Given the description of an element on the screen output the (x, y) to click on. 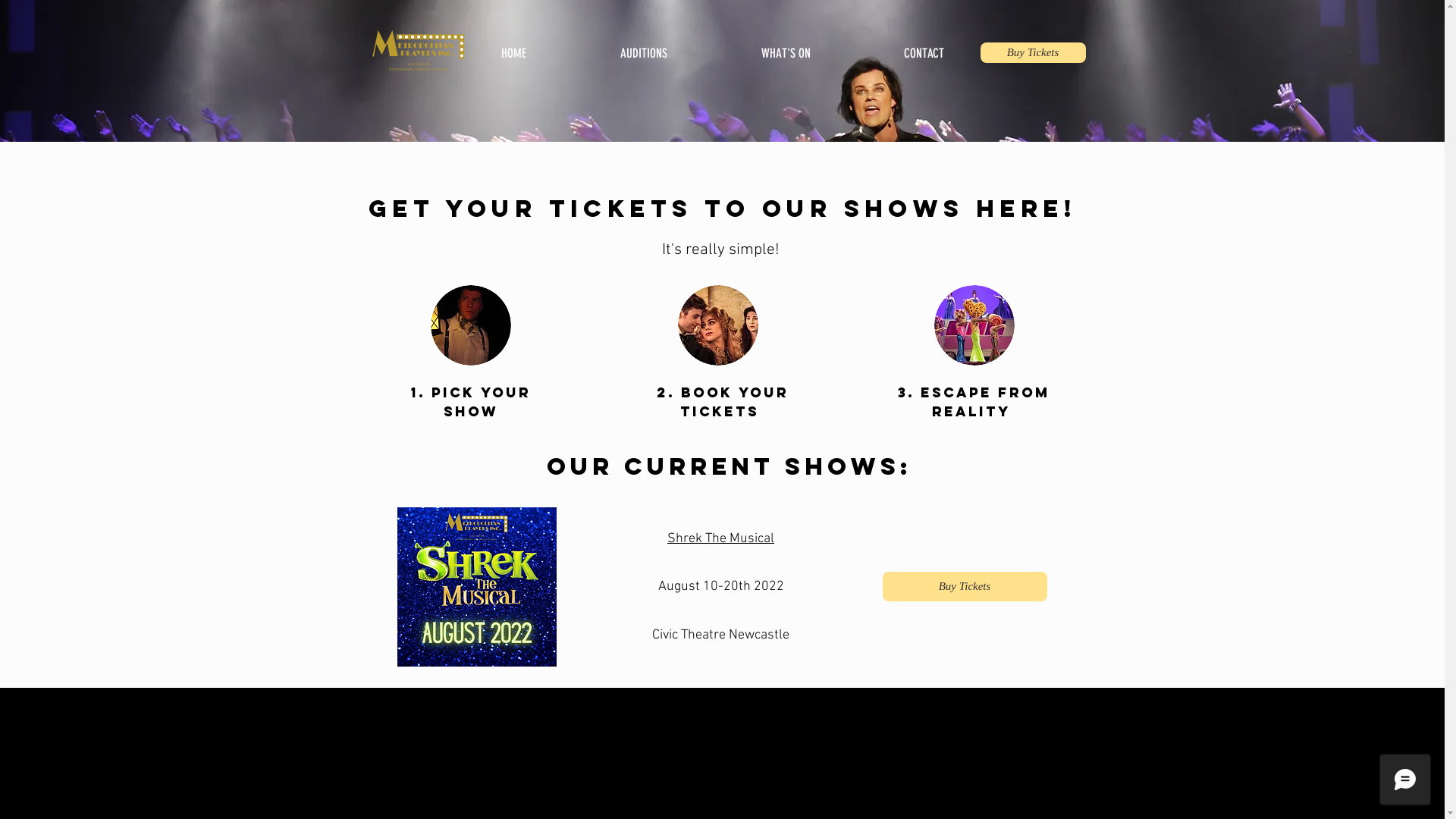
HOME Element type: text (512, 46)
106584185_4090525860988647_2474618303136208379_n.png Element type: hover (417, 52)
Buy Tickets Element type: text (1032, 52)
Buy Tickets Element type: text (964, 586)
CONTACT Element type: text (923, 46)
AUDITIONS Element type: text (643, 46)
WHAT'S ON Element type: text (785, 46)
